Given the description of an element on the screen output the (x, y) to click on. 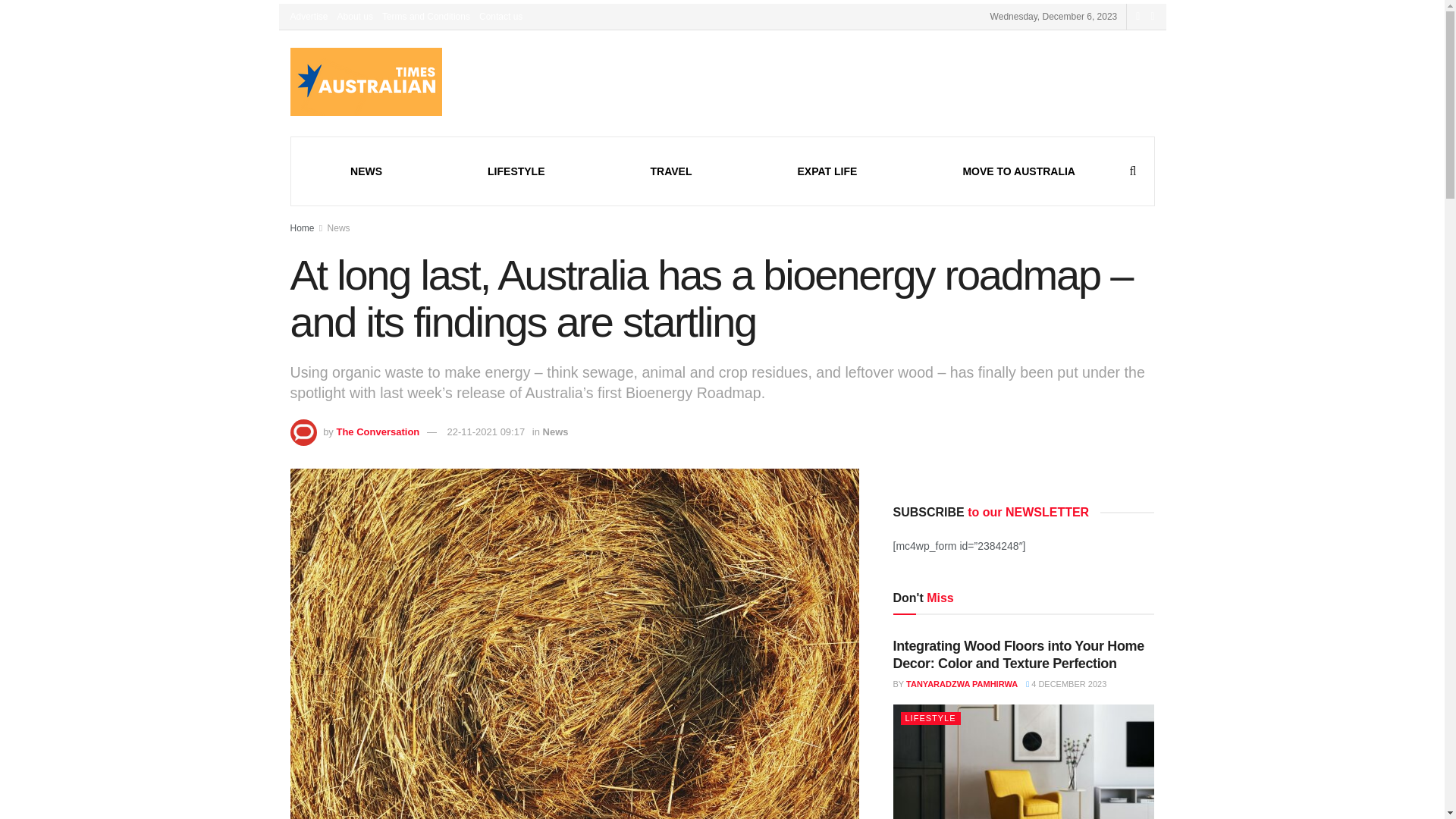
Australian Travel (671, 170)
LIFESTYLE (515, 170)
EXPAT LIFE (827, 170)
Advertise (308, 16)
Contact us (500, 16)
Terms and Conditions (425, 16)
Australian Entertainment (515, 170)
About us (354, 16)
NEWS (365, 170)
TRAVEL (671, 170)
